Given the description of an element on the screen output the (x, y) to click on. 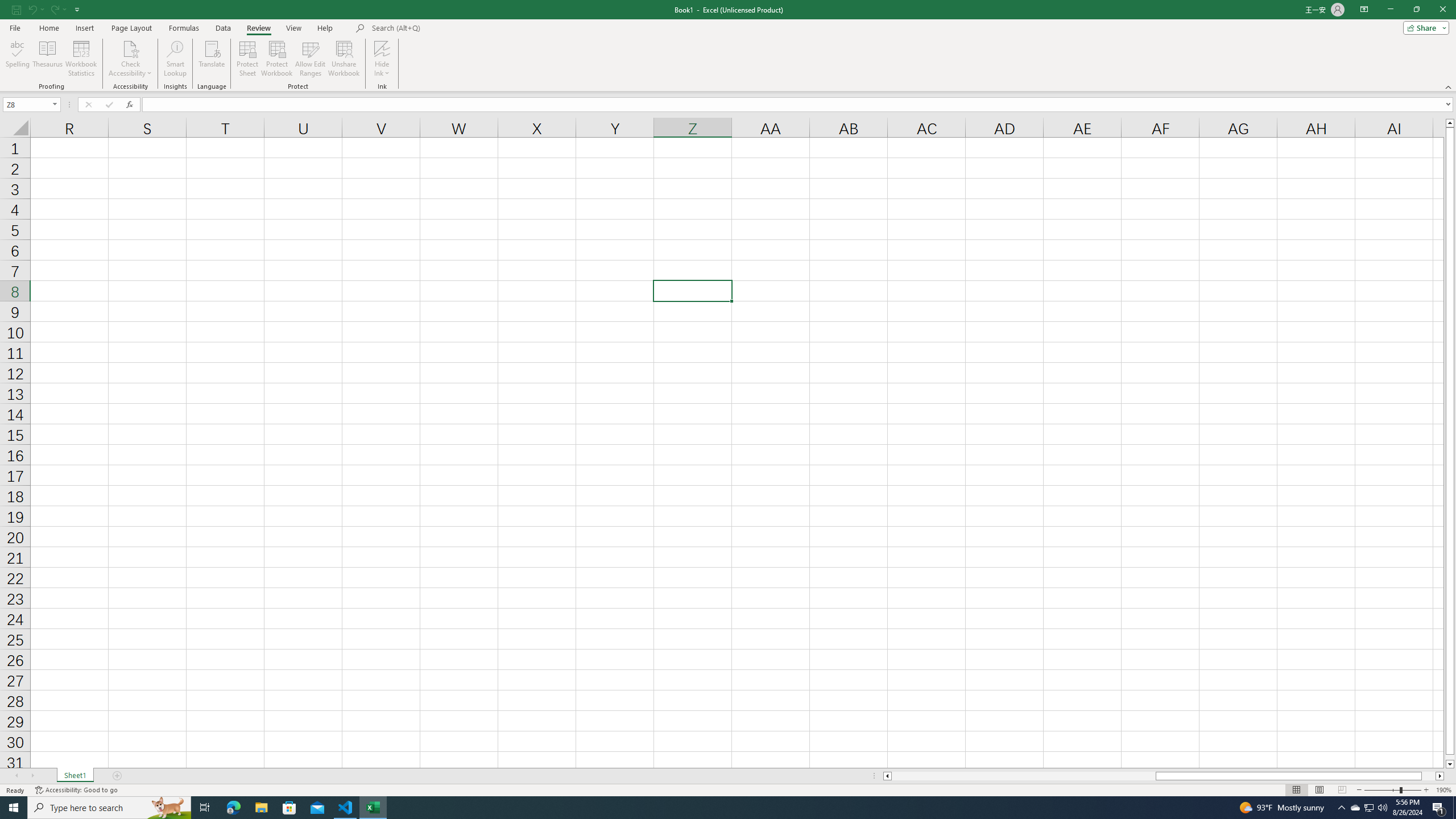
Protect Workbook... (277, 58)
Translate (211, 58)
Workbook Statistics (81, 58)
